Given the description of an element on the screen output the (x, y) to click on. 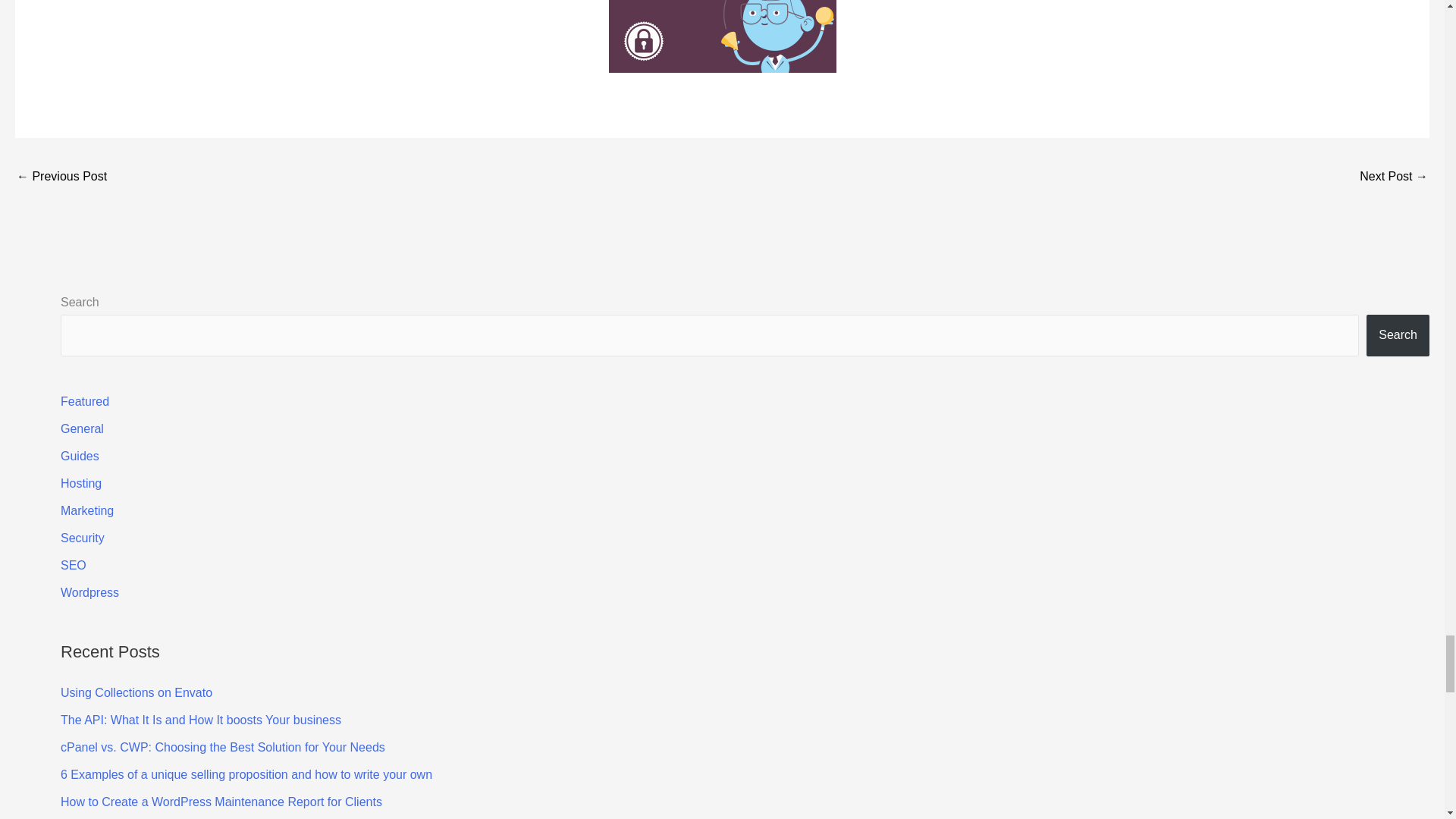
From awareness to action: how to raise money for nonprofits (1393, 177)
